Given the description of an element on the screen output the (x, y) to click on. 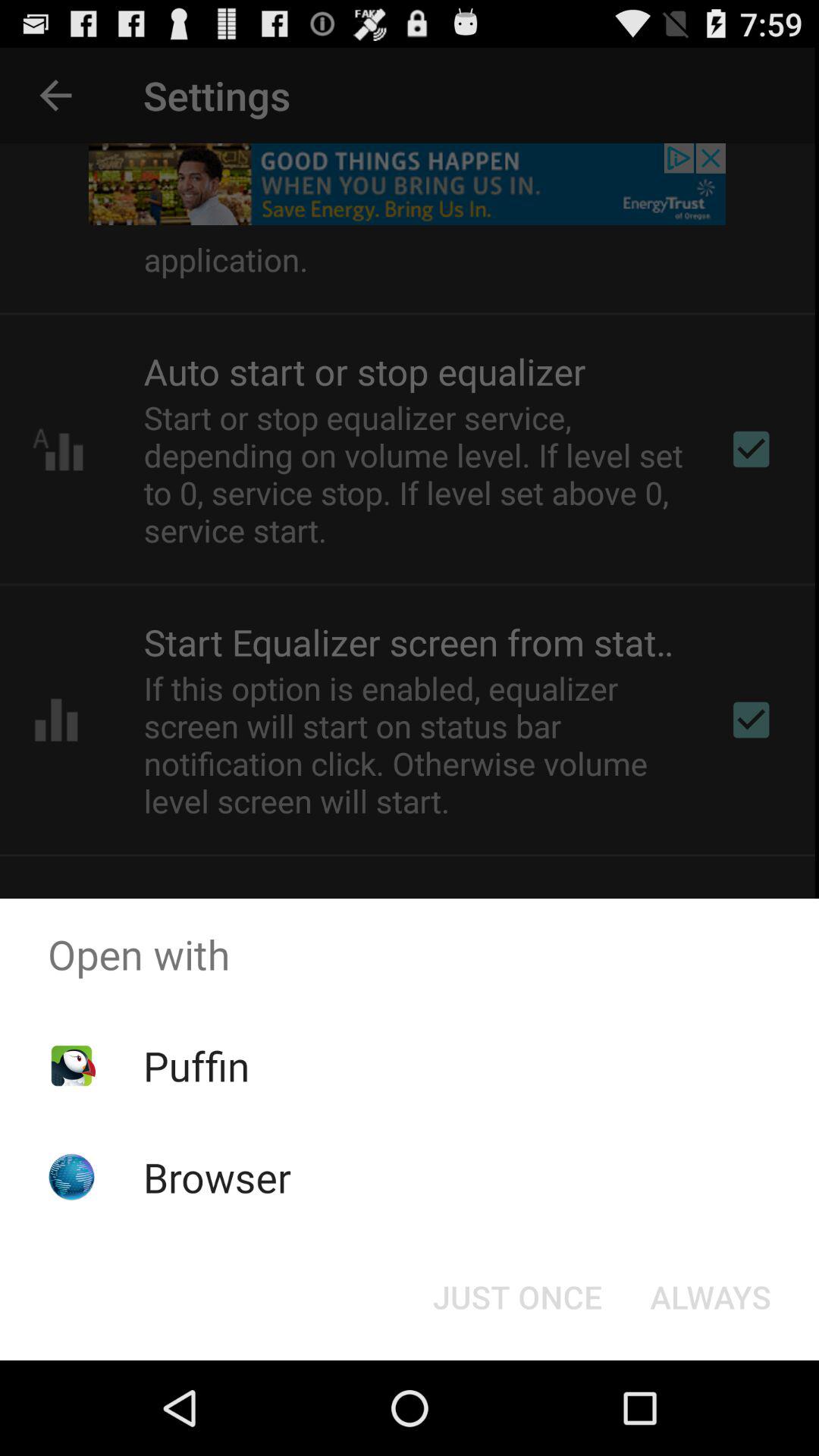
swipe to just once button (517, 1296)
